Given the description of an element on the screen output the (x, y) to click on. 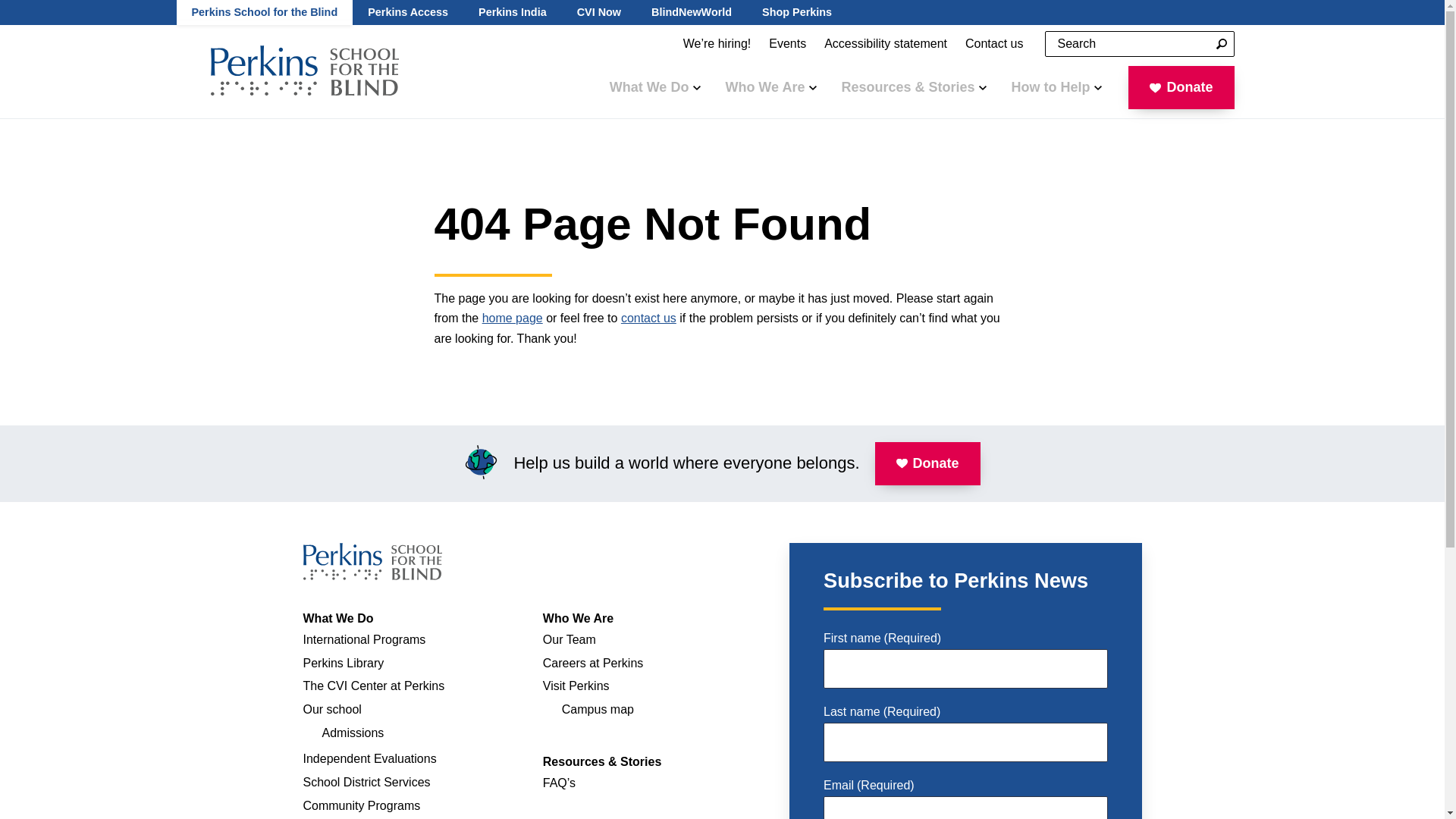
Accessibility statement (885, 43)
Contact us (994, 43)
Perkins School for the Blind Logo (304, 70)
Shop Perkins (304, 71)
Events (796, 12)
CVI Now (787, 43)
Perkins School for the Blind Logo (599, 12)
Search (372, 560)
What We Do (1220, 43)
Search (654, 86)
BlindNewWorld (1220, 43)
Perkins School for the Blind (691, 12)
Search (264, 12)
Perkins Access (1220, 43)
